Given the description of an element on the screen output the (x, y) to click on. 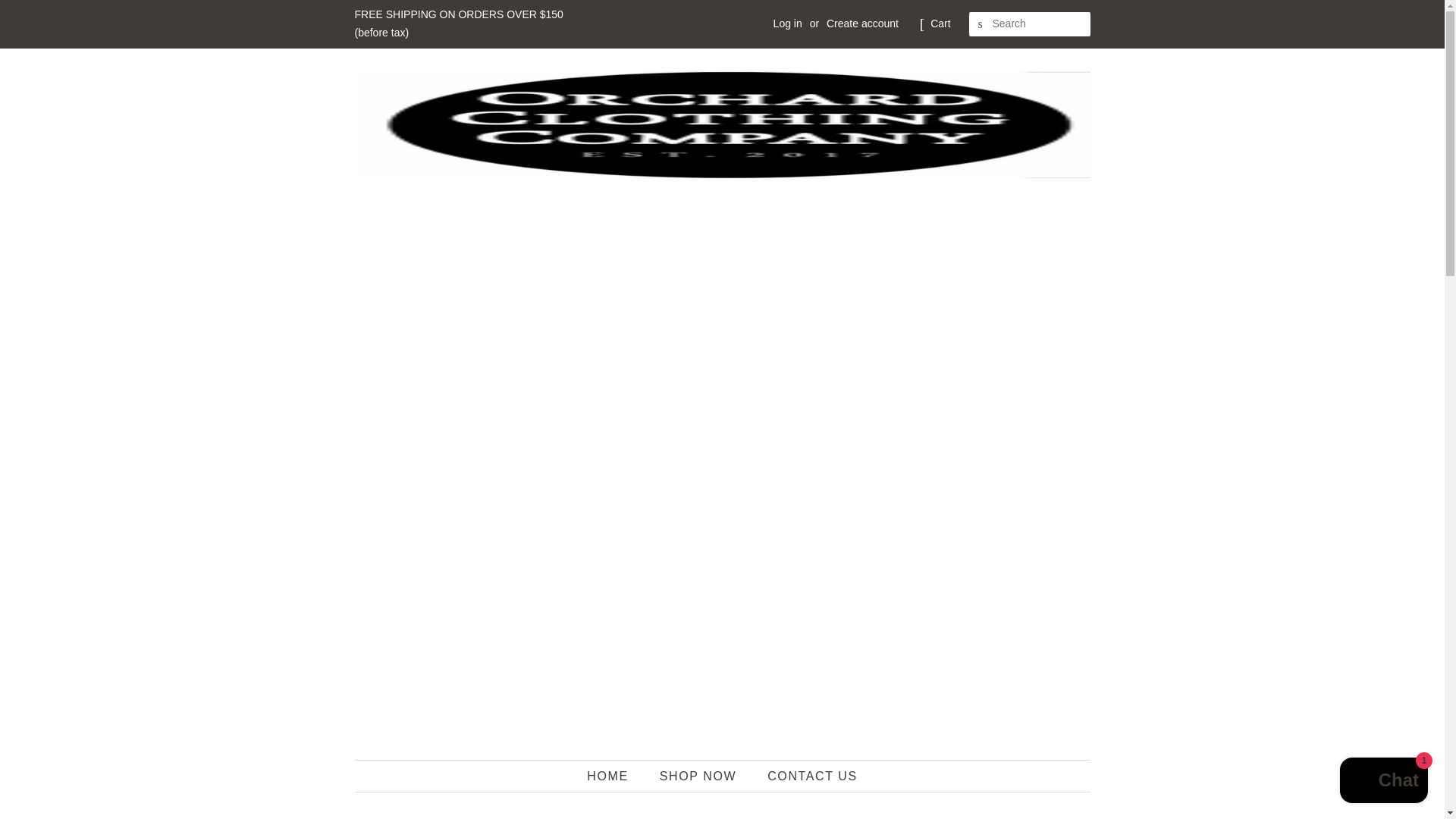
Shopify online store chat (1383, 781)
CONTACT US (806, 775)
SEARCH (980, 24)
SHOP NOW (699, 775)
Log in (787, 23)
Create account (862, 23)
HOME (614, 775)
Cart (940, 24)
